Given the description of an element on the screen output the (x, y) to click on. 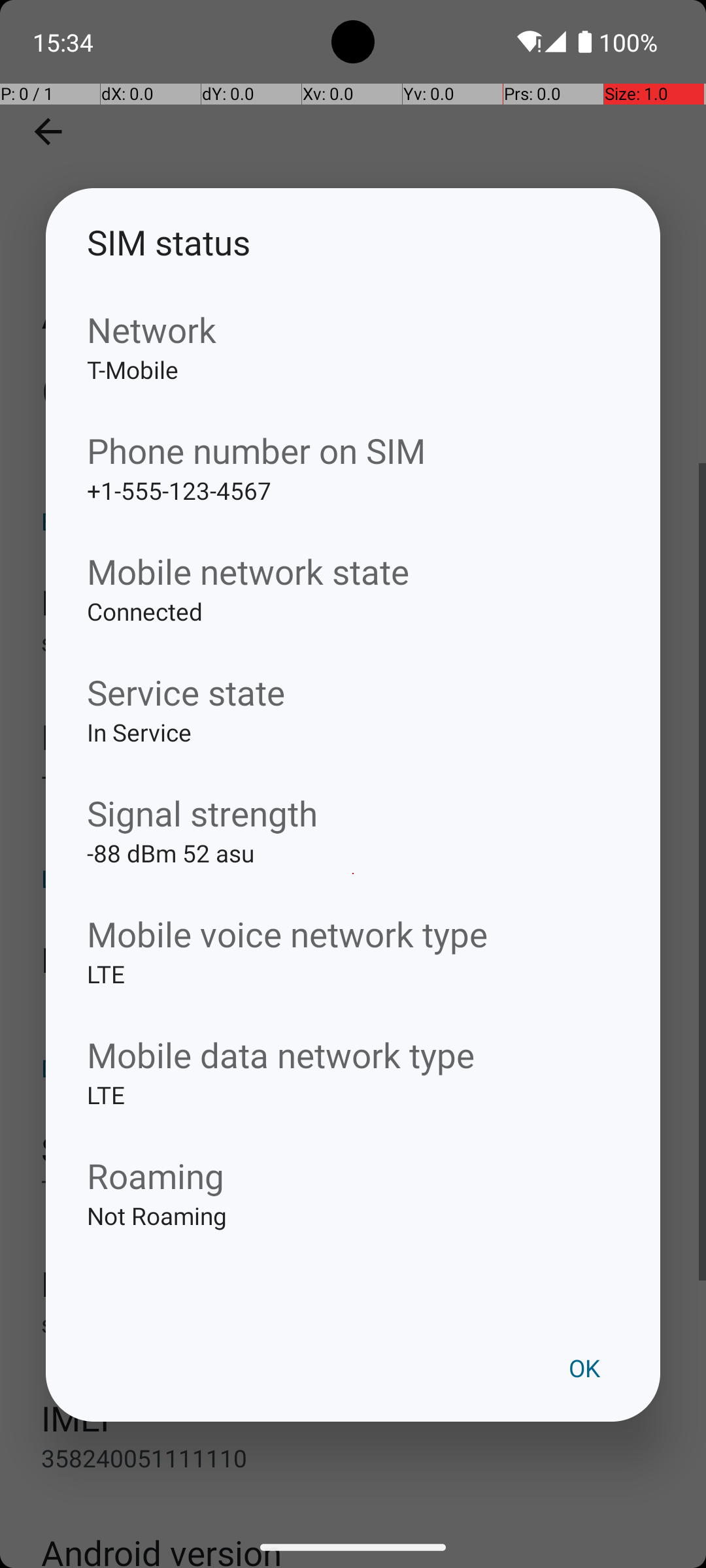
SIM status Element type: android.widget.TextView (352, 241)
Network Element type: android.widget.TextView (352, 329)
Phone number on SIM Element type: android.widget.TextView (352, 450)
+1-555-123-4567 Element type: android.widget.TextView (352, 510)
Mobile network state Element type: android.widget.TextView (352, 571)
Connected Element type: android.widget.TextView (352, 631)
Service state Element type: android.widget.TextView (352, 692)
In Service Element type: android.widget.TextView (352, 752)
Signal strength Element type: android.widget.TextView (352, 812)
-88 dBm 52 asu Element type: android.widget.TextView (352, 873)
Mobile voice network type Element type: android.widget.TextView (352, 933)
LTE Element type: android.widget.TextView (352, 994)
Mobile data network type Element type: android.widget.TextView (352, 1054)
Roaming Element type: android.widget.TextView (352, 1175)
Not Roaming Element type: android.widget.TextView (352, 1235)
